Given the description of an element on the screen output the (x, y) to click on. 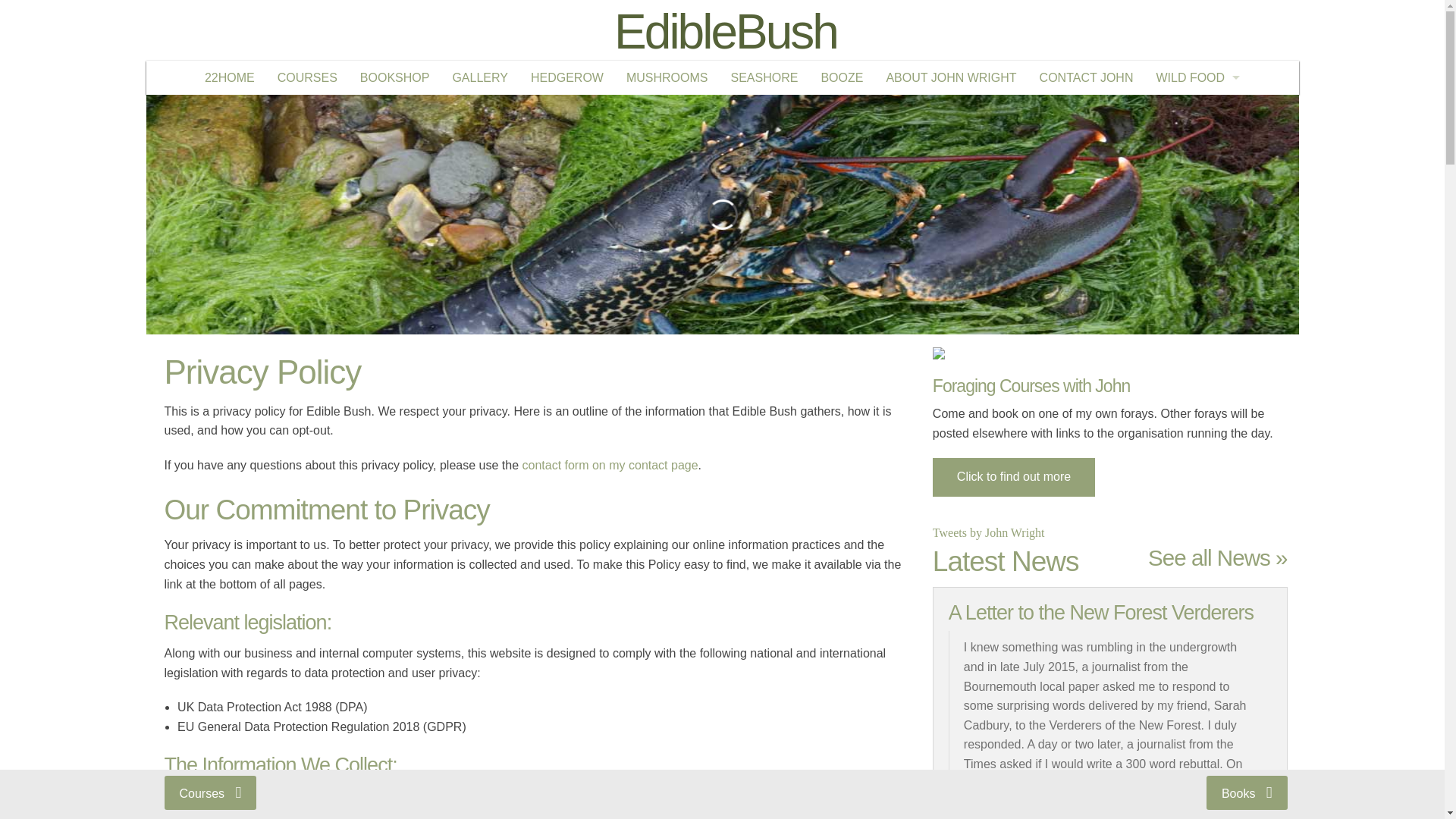
WILD FOOD (1197, 77)
MUSHROOMS (666, 77)
FORAGING WARNINGS (1197, 111)
ABOUT JOHN WRIGHT (951, 77)
SEASHORE (764, 77)
GALLERY (480, 77)
BOOKSHOP (395, 77)
BOOZE (842, 77)
COURSES (307, 77)
contact form on my contact page (609, 464)
